Given the description of an element on the screen output the (x, y) to click on. 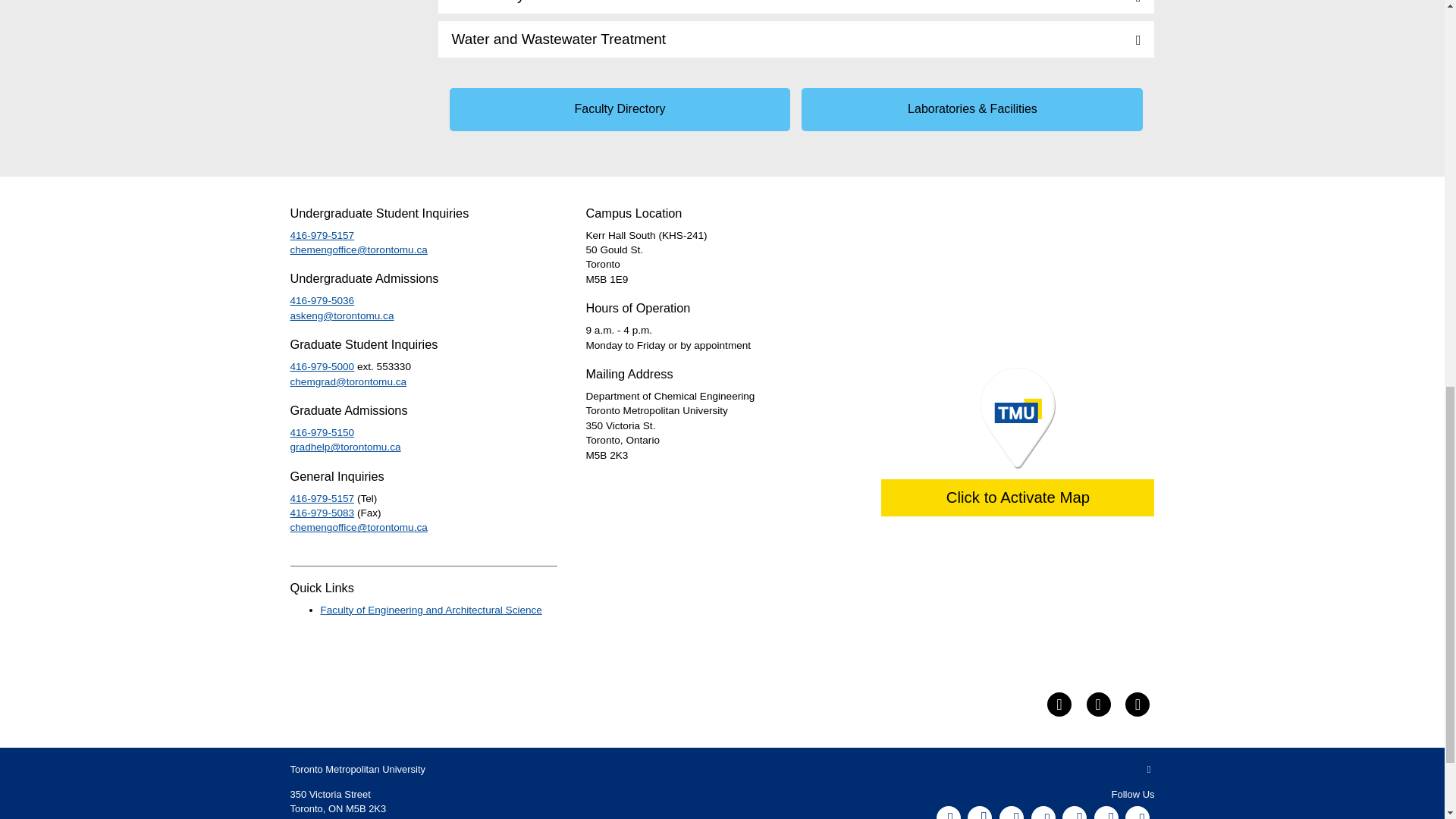
X (1010, 812)
Facebook (948, 812)
YouTube (1042, 812)
Threads (1137, 812)
twitter (1058, 704)
youtube (1098, 704)
Tiktok (1106, 812)
LinkedIn (1074, 812)
Instagram (979, 812)
instagram (1137, 704)
